Given the description of an element on the screen output the (x, y) to click on. 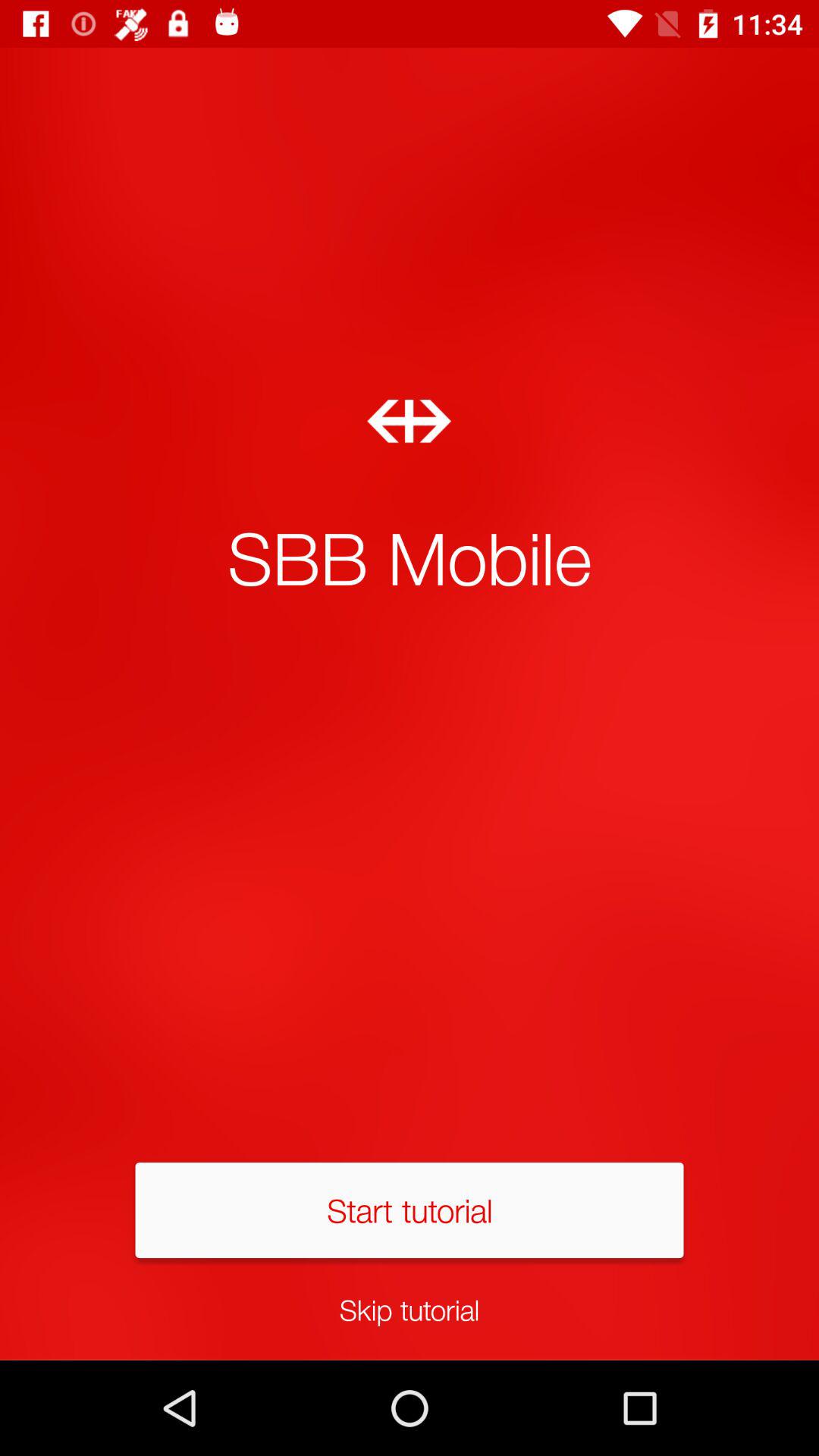
select the start tutorial (409, 1210)
